Given the description of an element on the screen output the (x, y) to click on. 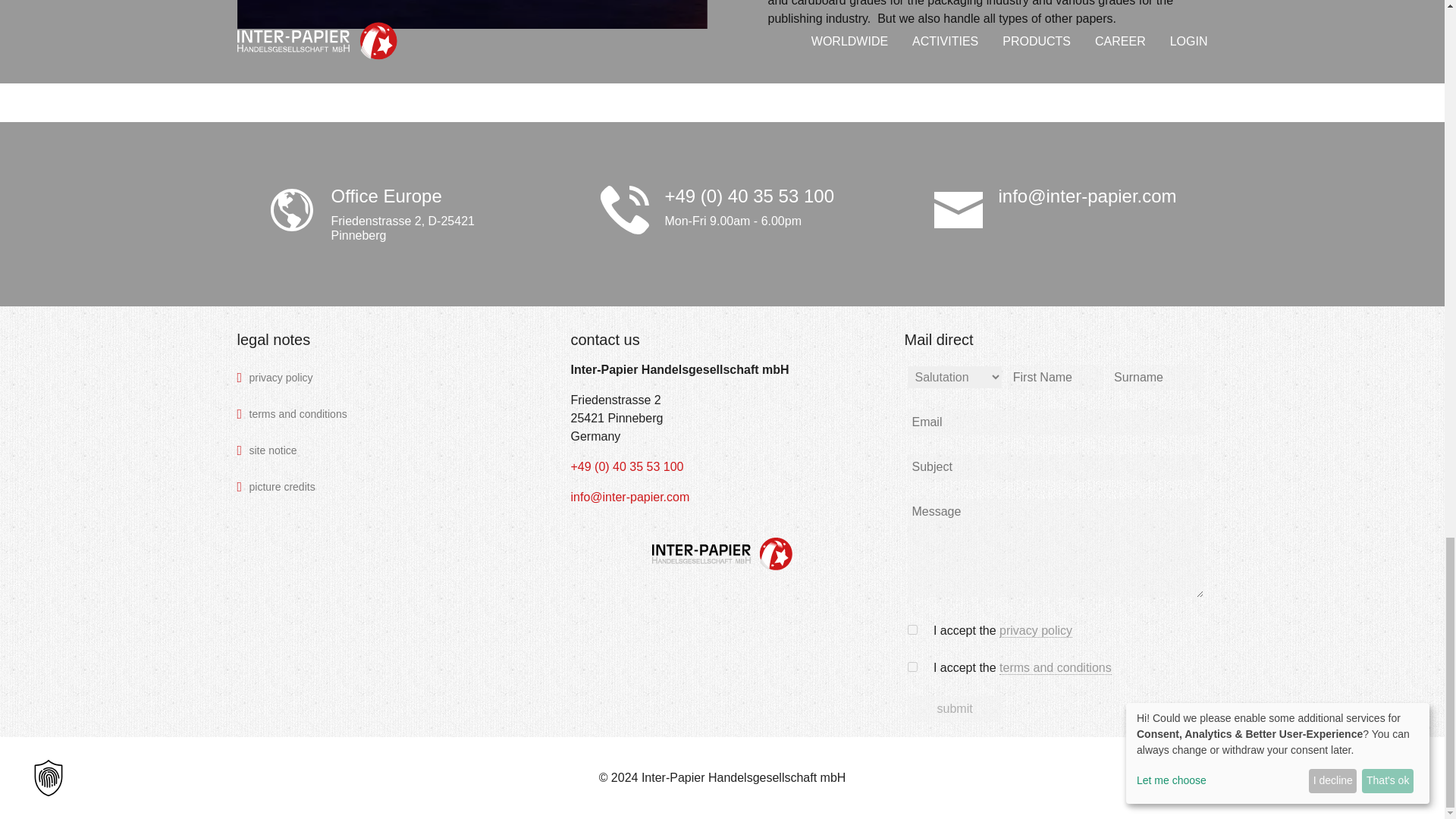
privacy policy (387, 377)
accepted (912, 629)
site notice (387, 450)
picture credits (387, 486)
privacy policy (387, 377)
terms and conditions (387, 413)
submit (954, 708)
submit (954, 708)
site notice (387, 450)
terms and conditions (1055, 667)
